Given the description of an element on the screen output the (x, y) to click on. 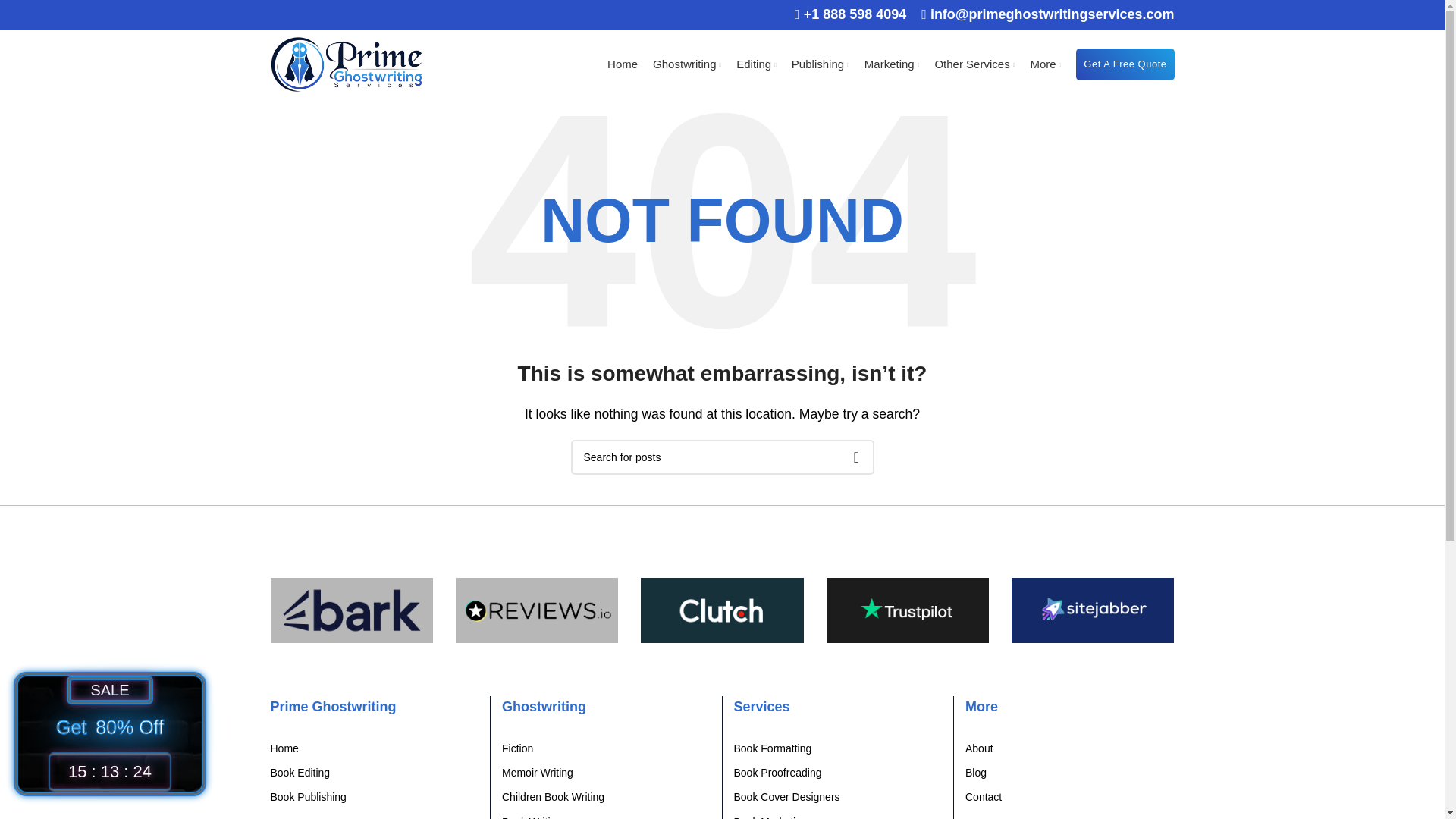
Editing (756, 64)
Ghostwriting (686, 64)
Search for posts (721, 457)
Home (622, 64)
Other Services (974, 64)
More (1045, 64)
Publishing (820, 64)
Get A Free Quote (1124, 64)
Marketing (892, 64)
SEARCH (855, 457)
